Given the description of an element on the screen output the (x, y) to click on. 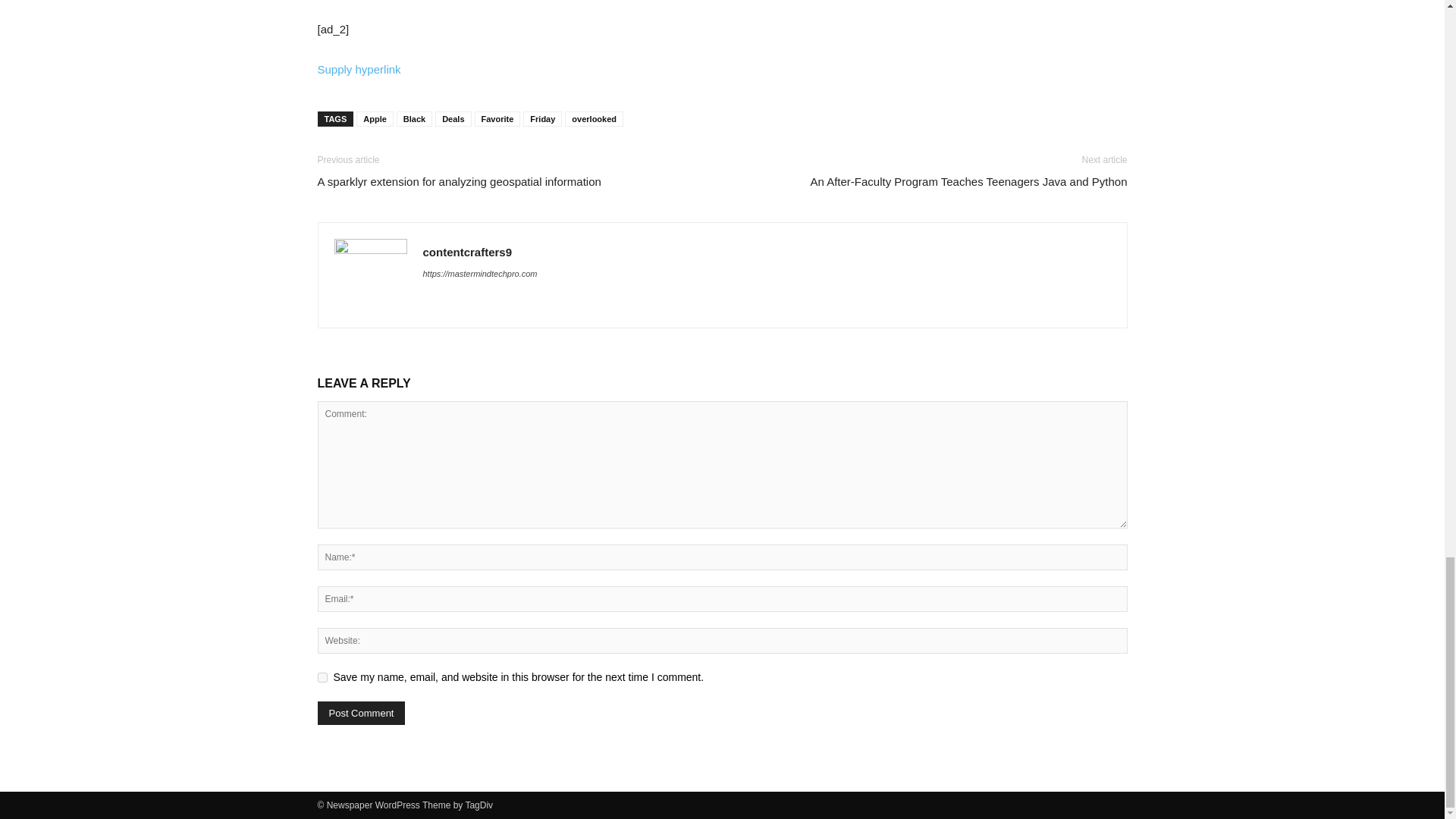
yes (321, 677)
Apple (374, 118)
Post Comment (360, 712)
An After-Faculty Program Teaches Teenagers Java and Python (967, 181)
Supply hyperlink (358, 69)
Post Comment (360, 712)
Favorite (497, 118)
Black (414, 118)
A sparklyr extension for analyzing geospatial information (458, 181)
Friday (542, 118)
